Given the description of an element on the screen output the (x, y) to click on. 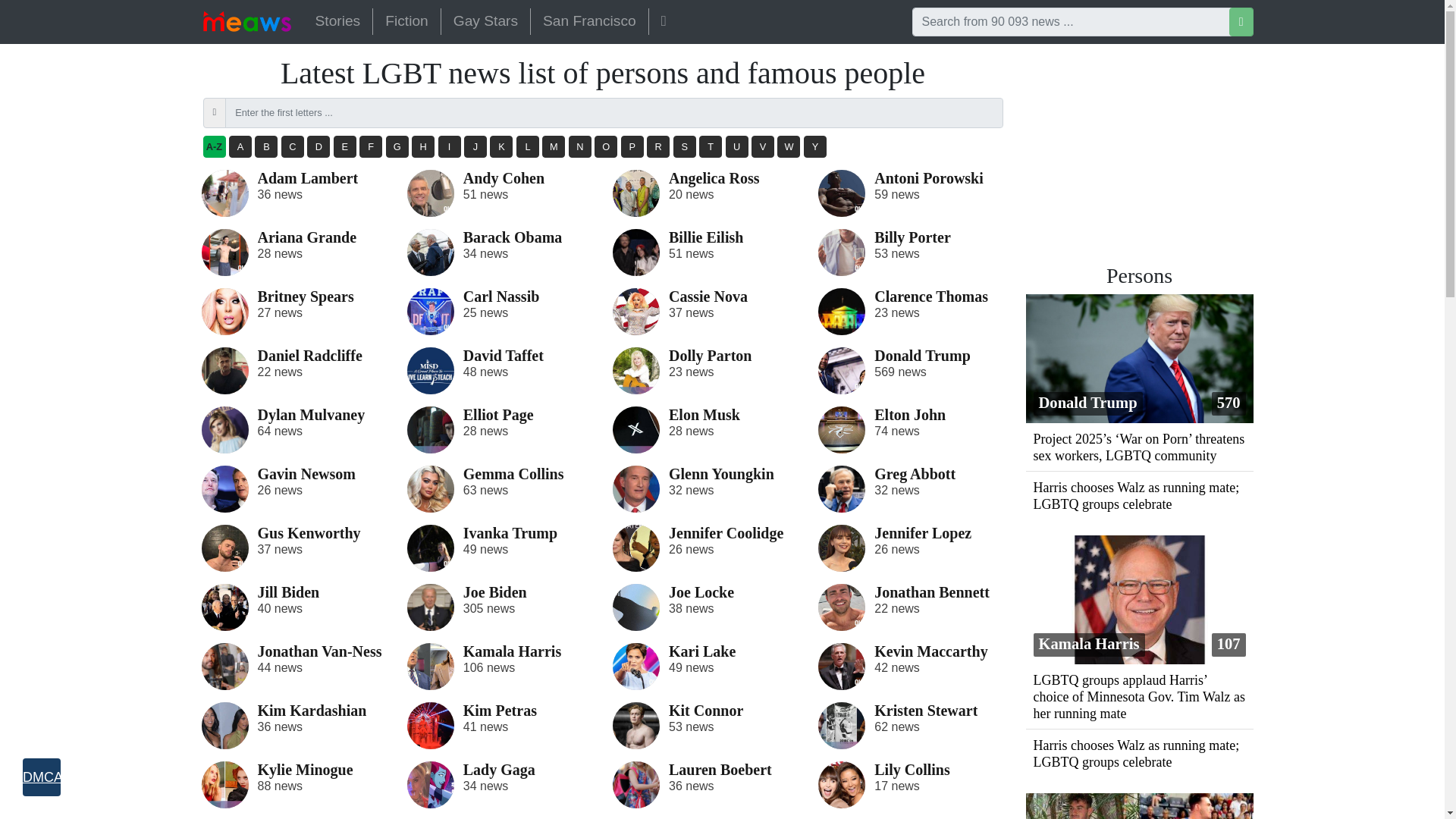
Stories (337, 21)
San Francisco (589, 21)
San Francisco (589, 21)
Gay Stars (485, 21)
Stories (337, 21)
Fiction (406, 21)
Fiction (406, 21)
Gay Stars (485, 21)
